Given the description of an element on the screen output the (x, y) to click on. 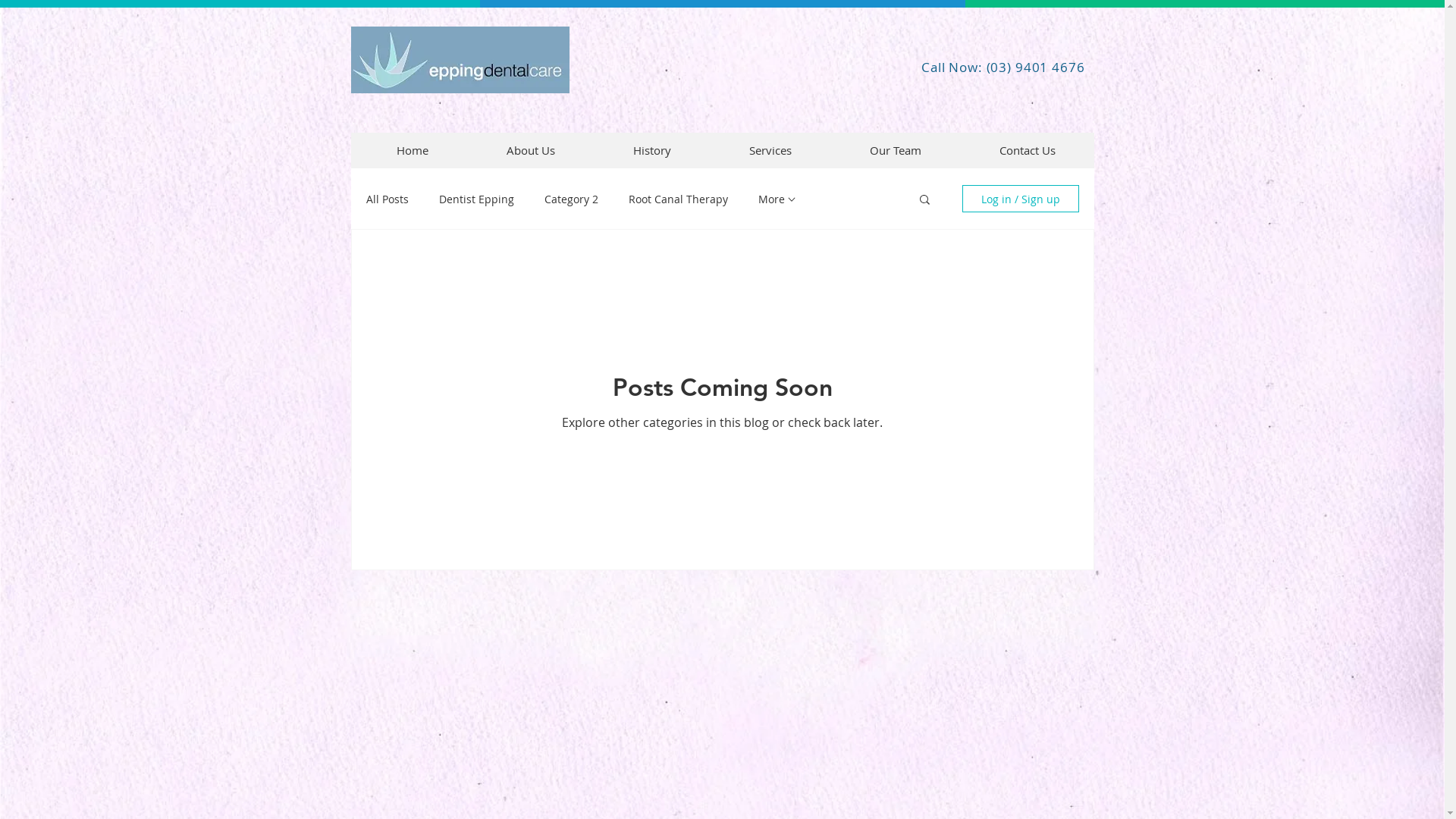
History Element type: text (652, 150)
Root Canal Therapy Element type: text (677, 198)
Services Element type: text (769, 150)
All Posts Element type: text (386, 198)
Dentist Epping Element type: text (475, 198)
About Us Element type: text (530, 150)
Contact Us Element type: text (1026, 150)
Our Team Element type: text (895, 150)
Home Element type: text (412, 150)
Category 2 Element type: text (571, 198)
Log in / Sign up Element type: text (1019, 198)
Call Now:  Element type: text (953, 66)
(03) 9401 4676 Element type: text (1035, 66)
